Given the description of an element on the screen output the (x, y) to click on. 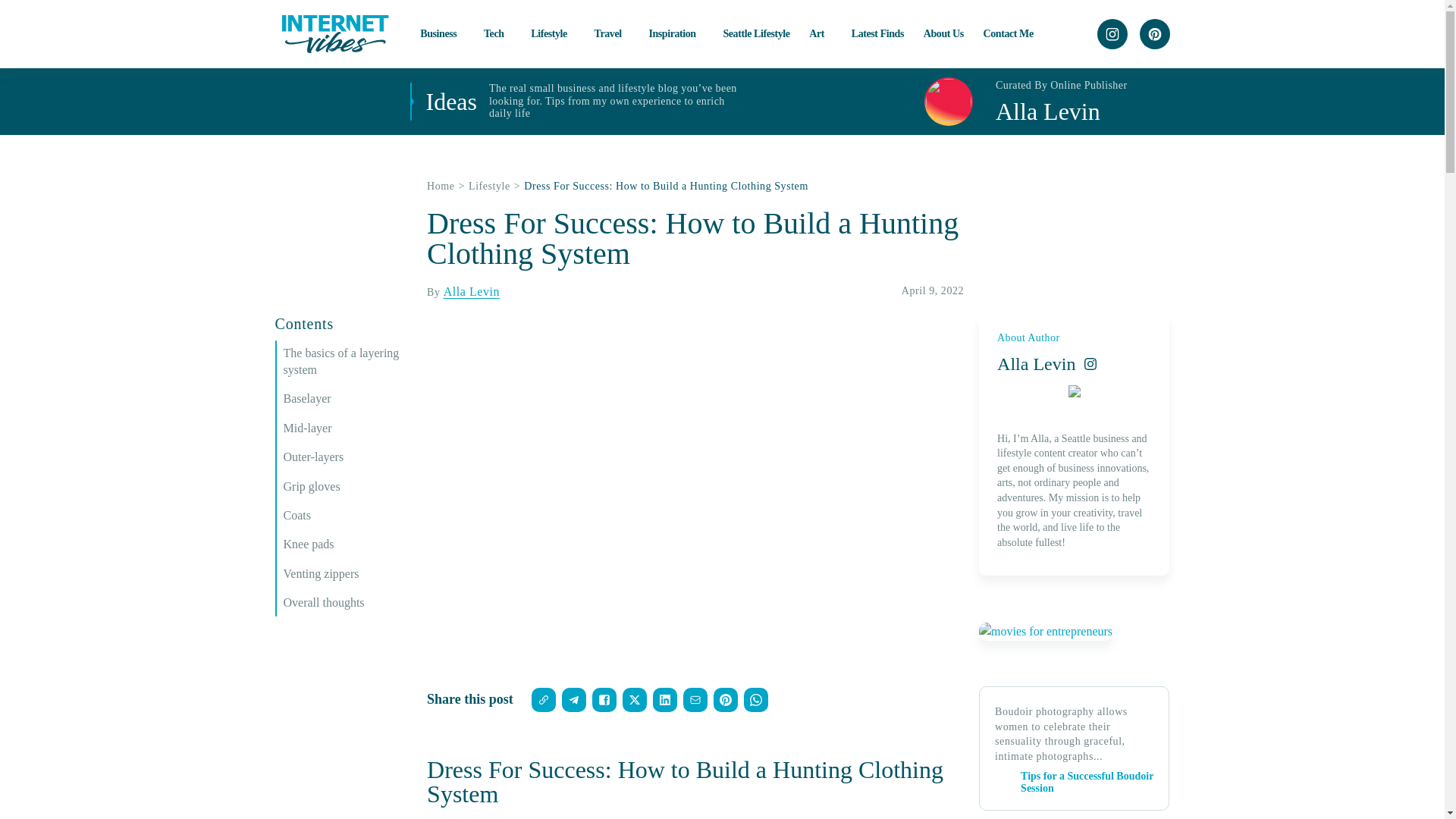
Venting zippers (347, 573)
Grip gloves (347, 486)
Coats (347, 515)
Lifestyle (553, 33)
Mid-layer (347, 428)
Outer-layers (347, 457)
Inspiration (675, 33)
